Given the description of an element on the screen output the (x, y) to click on. 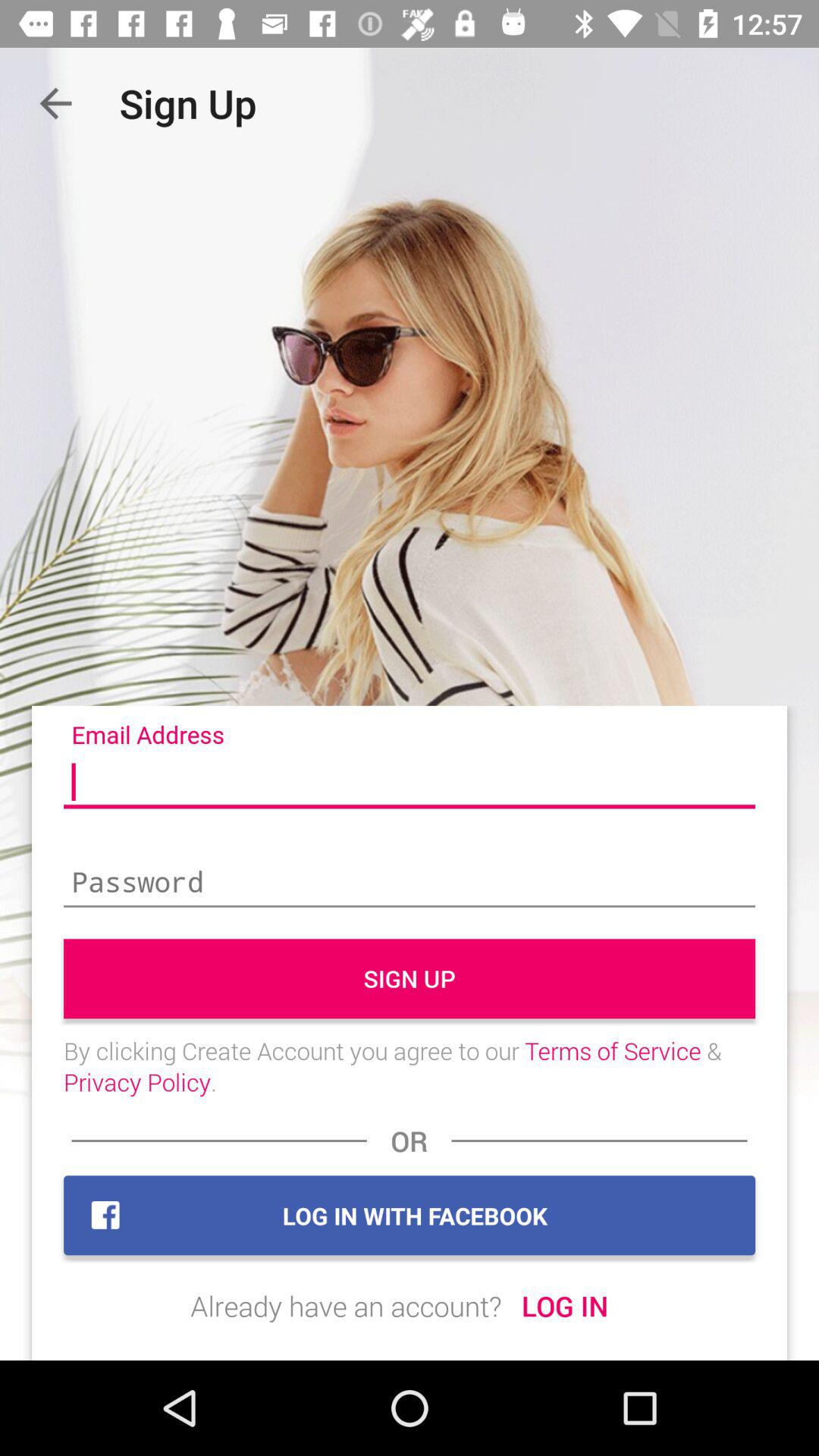
choose the icon next to sign up app (55, 103)
